Given the description of an element on the screen output the (x, y) to click on. 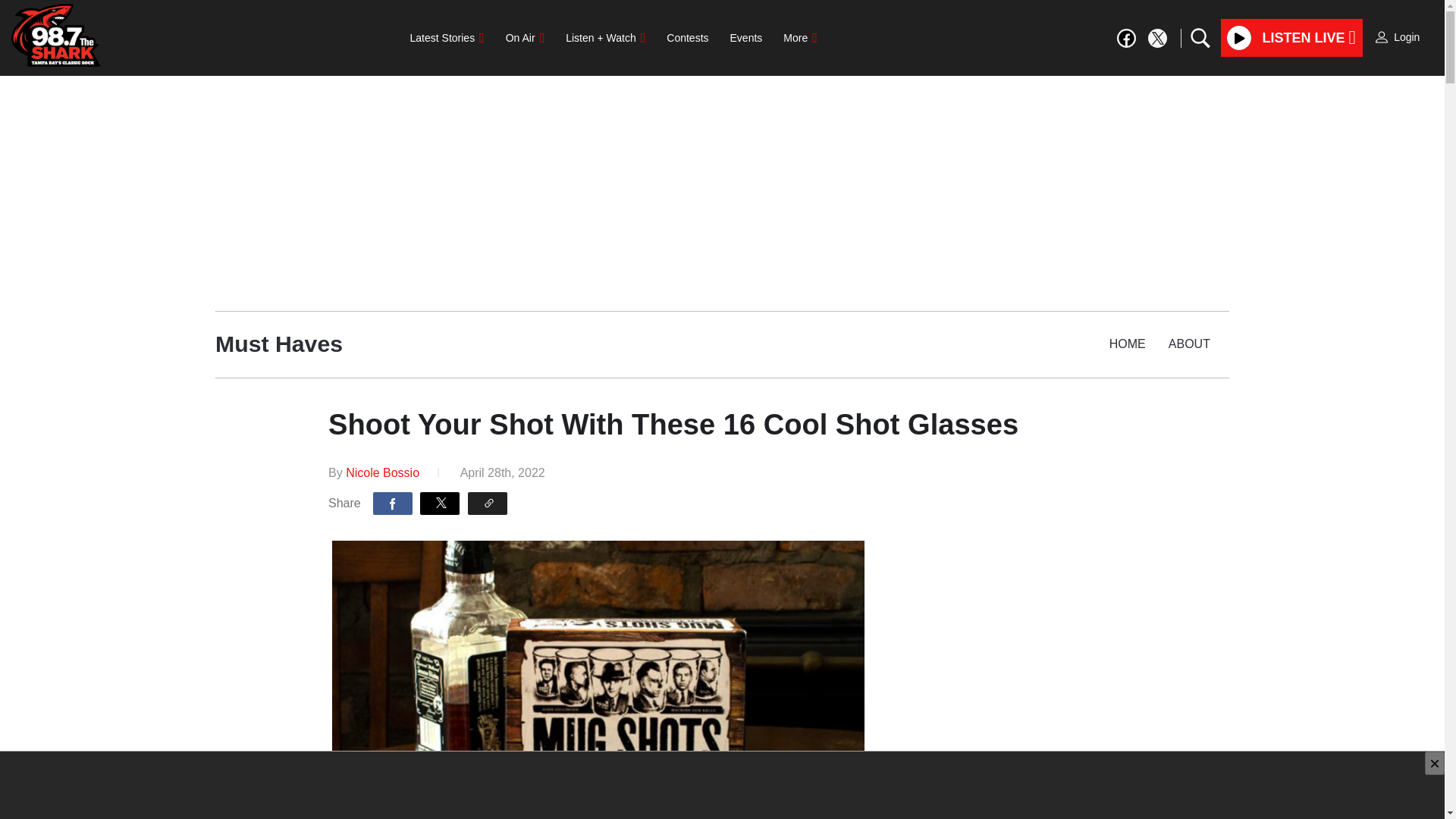
On Air (524, 37)
Events (746, 37)
Nicole Bossio (382, 472)
More (800, 37)
Latest Stories (446, 37)
Contests (687, 37)
